Given the description of an element on the screen output the (x, y) to click on. 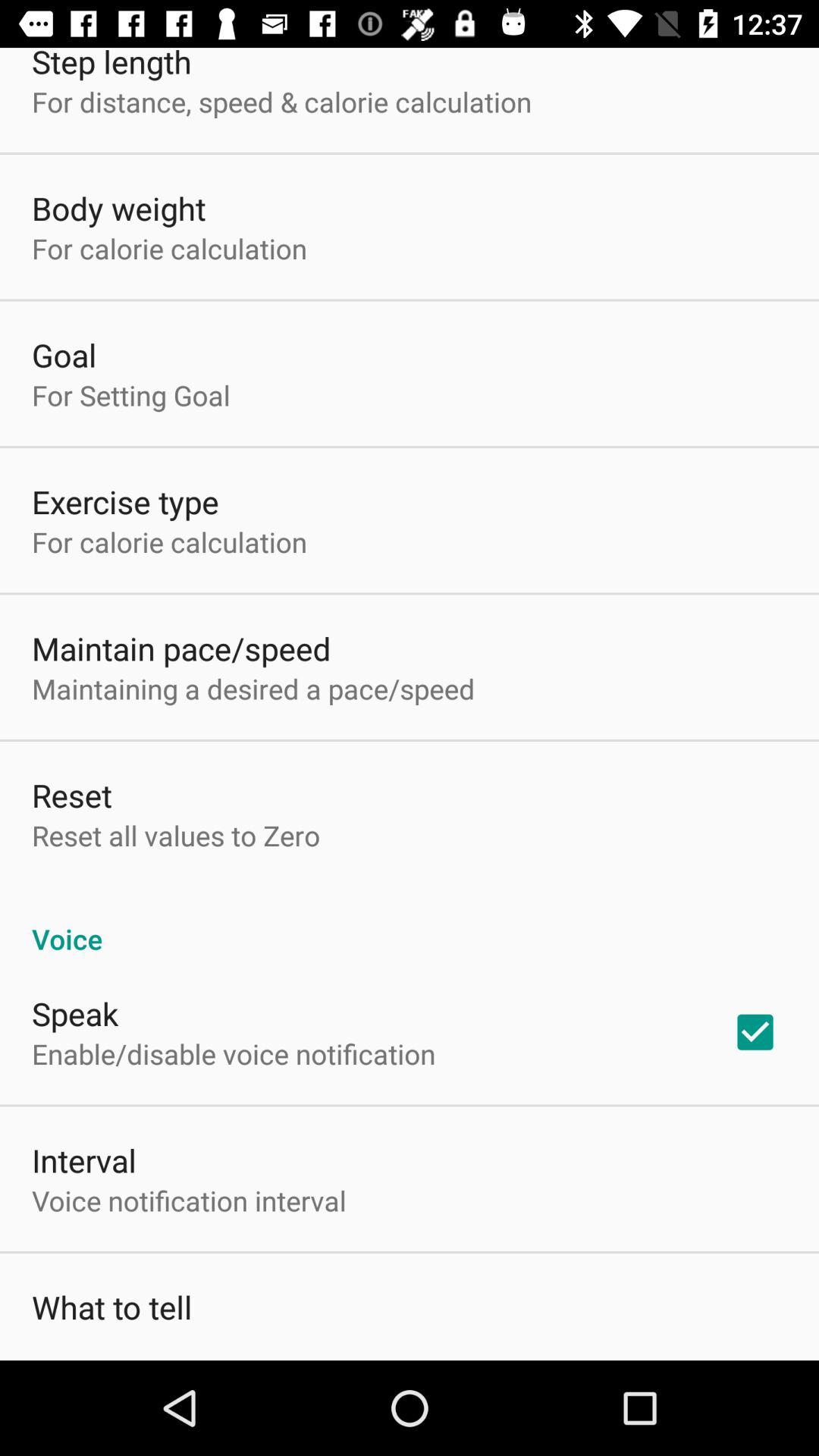
select icon below the maintain pace/speed icon (252, 688)
